Given the description of an element on the screen output the (x, y) to click on. 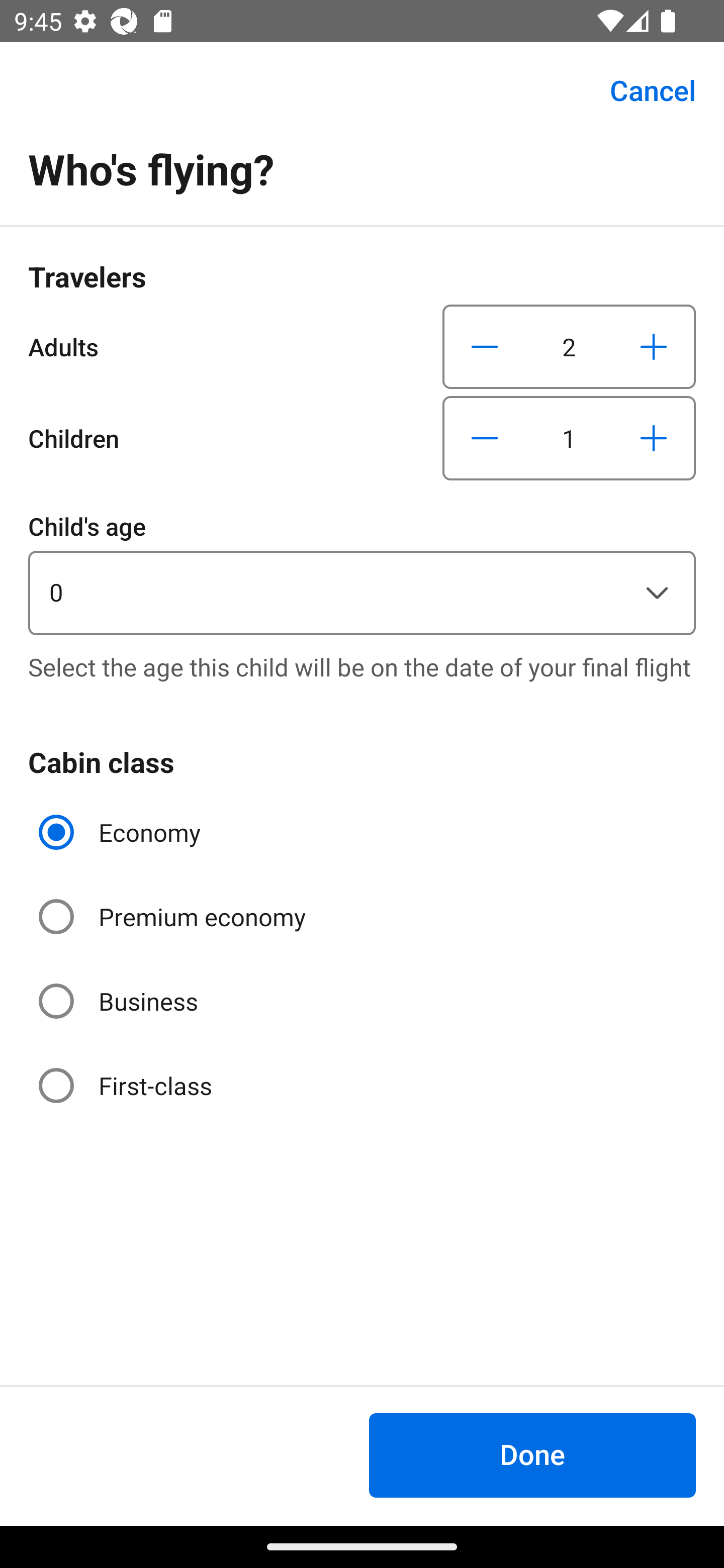
Cancel (641, 90)
Decrease (484, 346)
Increase (653, 346)
Decrease (484, 437)
Increase (653, 437)
Child's age
 Child's age 0 (361, 571)
Economy (121, 832)
Premium economy (174, 916)
Business (120, 1000)
First-class (126, 1084)
Done (532, 1454)
